Given the description of an element on the screen output the (x, y) to click on. 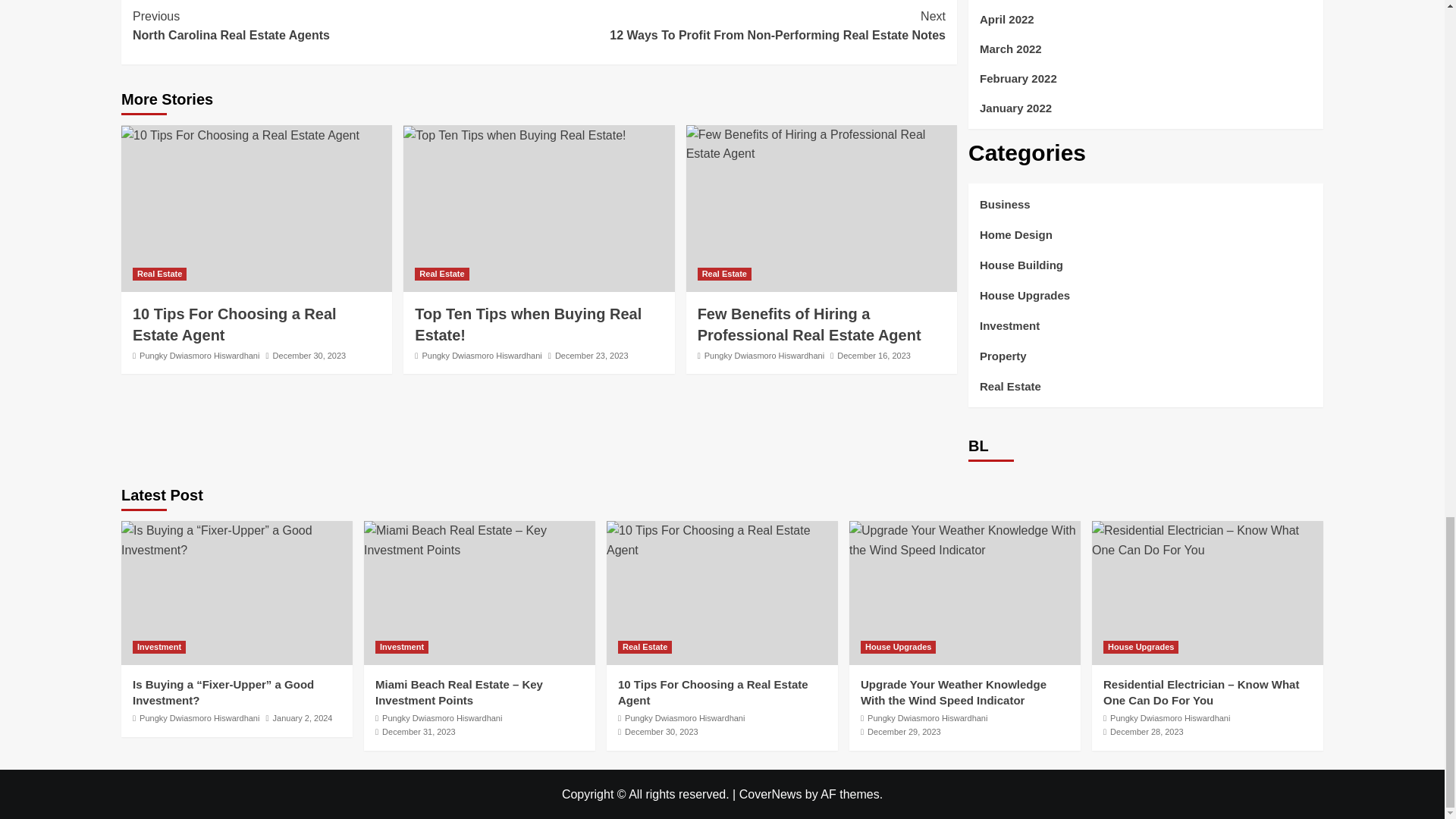
Few Benefits of Hiring a Professional Real Estate Agent (809, 324)
Pungky Dwiasmoro Hiswardhani (481, 355)
10 Tips For Choosing a Real Estate Agent (234, 324)
December 30, 2023 (309, 355)
Pungky Dwiasmoro Hiswardhani (199, 355)
Top Ten Tips when Buying Real Estate! (741, 25)
Real Estate (528, 324)
December 16, 2023 (724, 273)
Top Ten Tips when Buying Real Estate! (874, 355)
Few Benefits of Hiring a Professional Real Estate Agent (514, 135)
Upgrade Your Weather Knowledge With the Wind Speed Indicator (820, 144)
December 23, 2023 (964, 539)
10 Tips For Choosing a Real Estate Agent (591, 355)
